Given the description of an element on the screen output the (x, y) to click on. 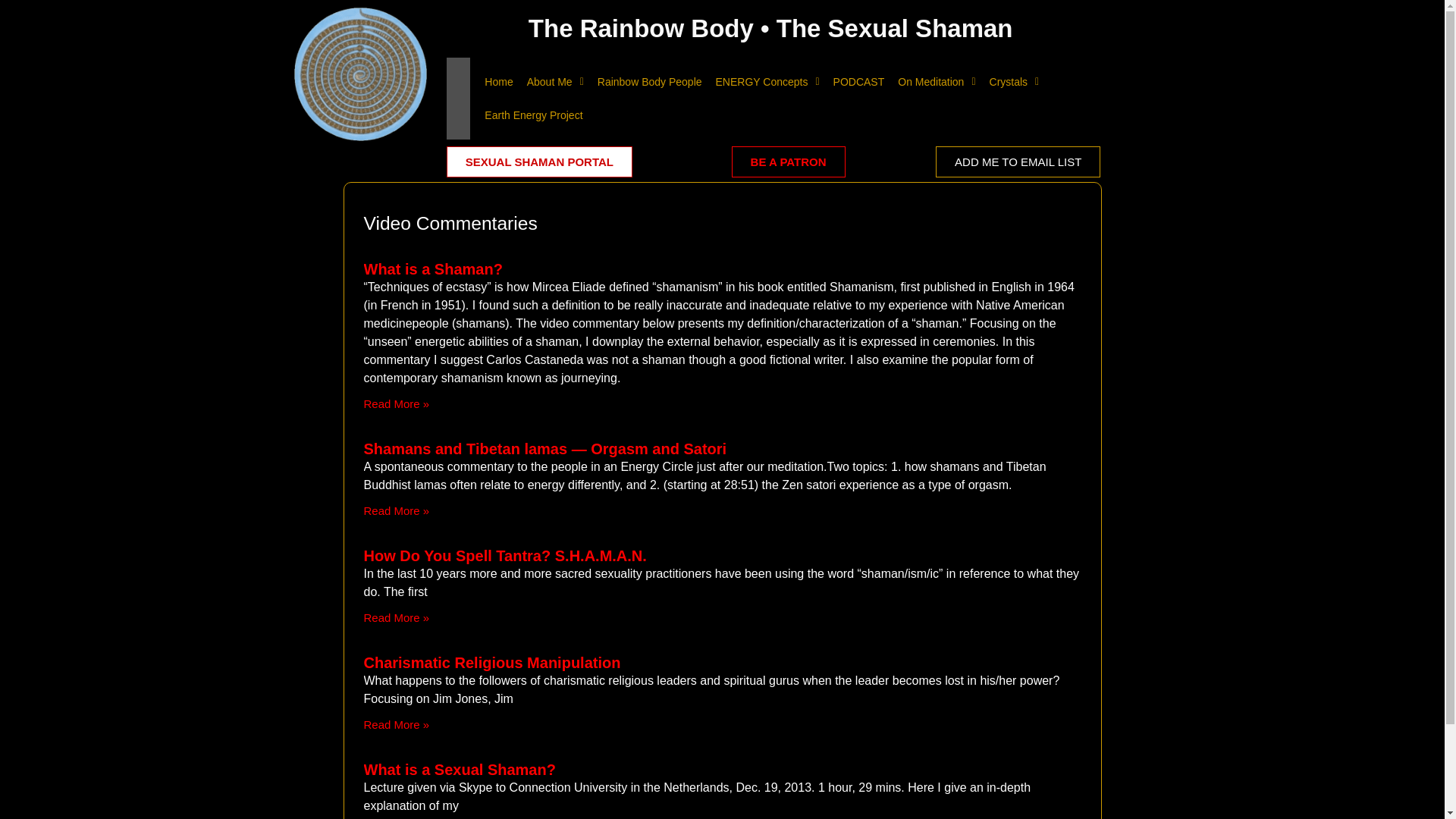
About Me (555, 81)
Earth Energy Project (533, 114)
Rainbow Body People (650, 81)
On Meditation (936, 81)
ENERGY Concepts (768, 81)
Crystals (1014, 81)
PODCAST (859, 81)
Home (498, 81)
